Given the description of an element on the screen output the (x, y) to click on. 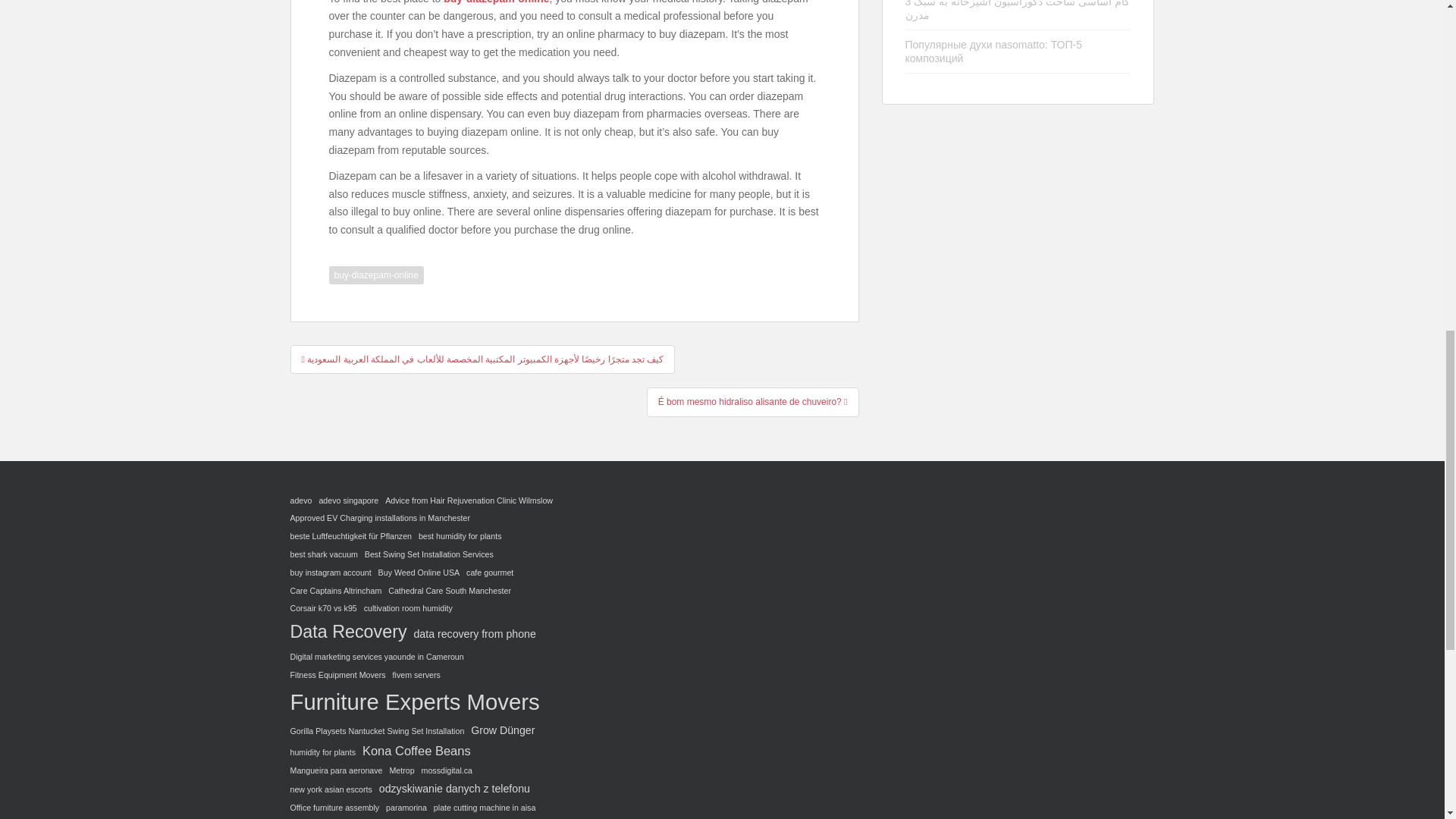
buy-diazepam-online (496, 2)
buy-diazepam-online (376, 275)
